Given the description of an element on the screen output the (x, y) to click on. 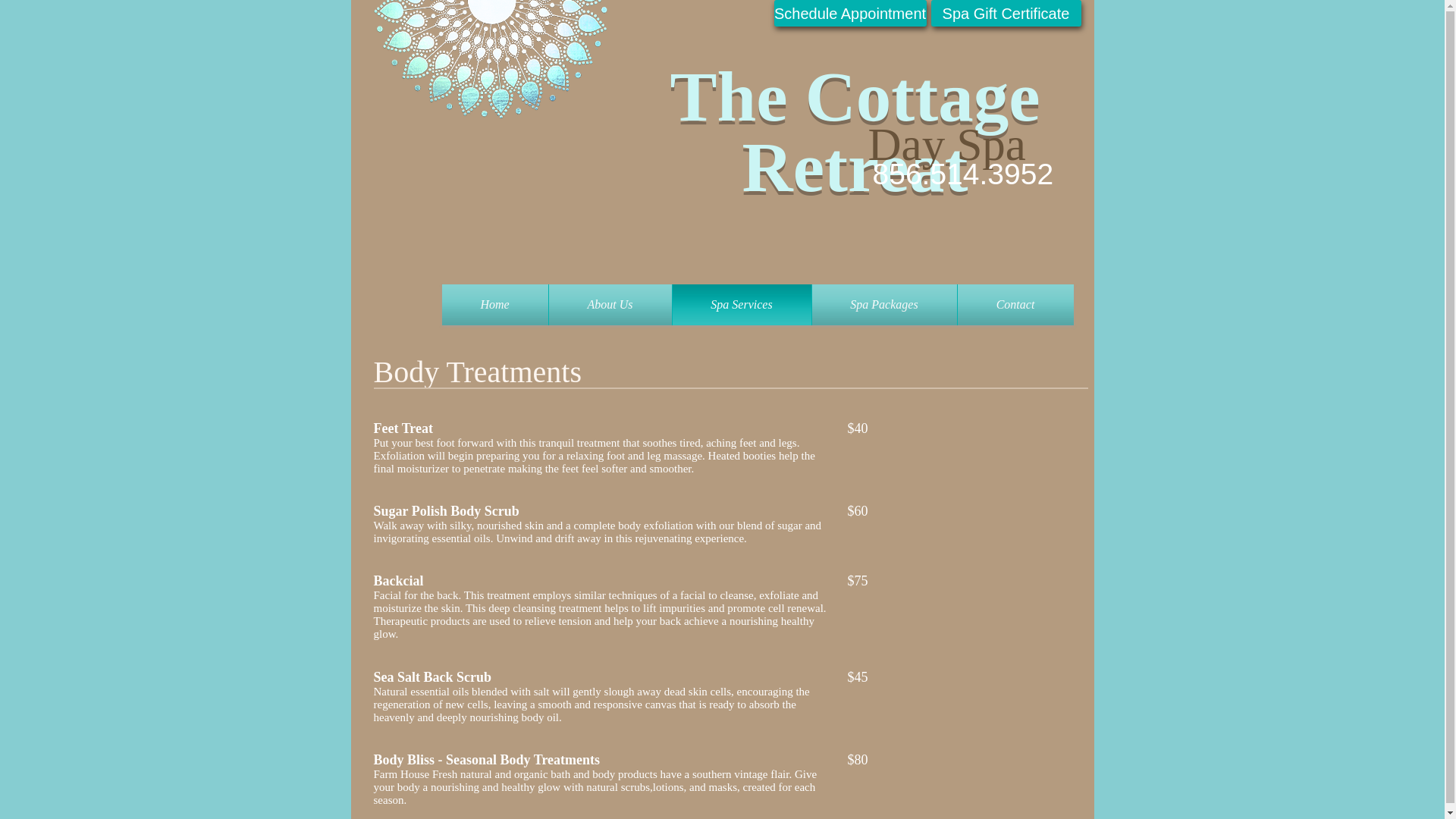
About Us (609, 304)
Schedule Appointment (849, 13)
Spa Packages (883, 304)
Spa Gift Certificate (1006, 13)
Contact (1014, 304)
856.514.3952 (962, 174)
Spa Services (740, 304)
Home (494, 304)
